Given the description of an element on the screen output the (x, y) to click on. 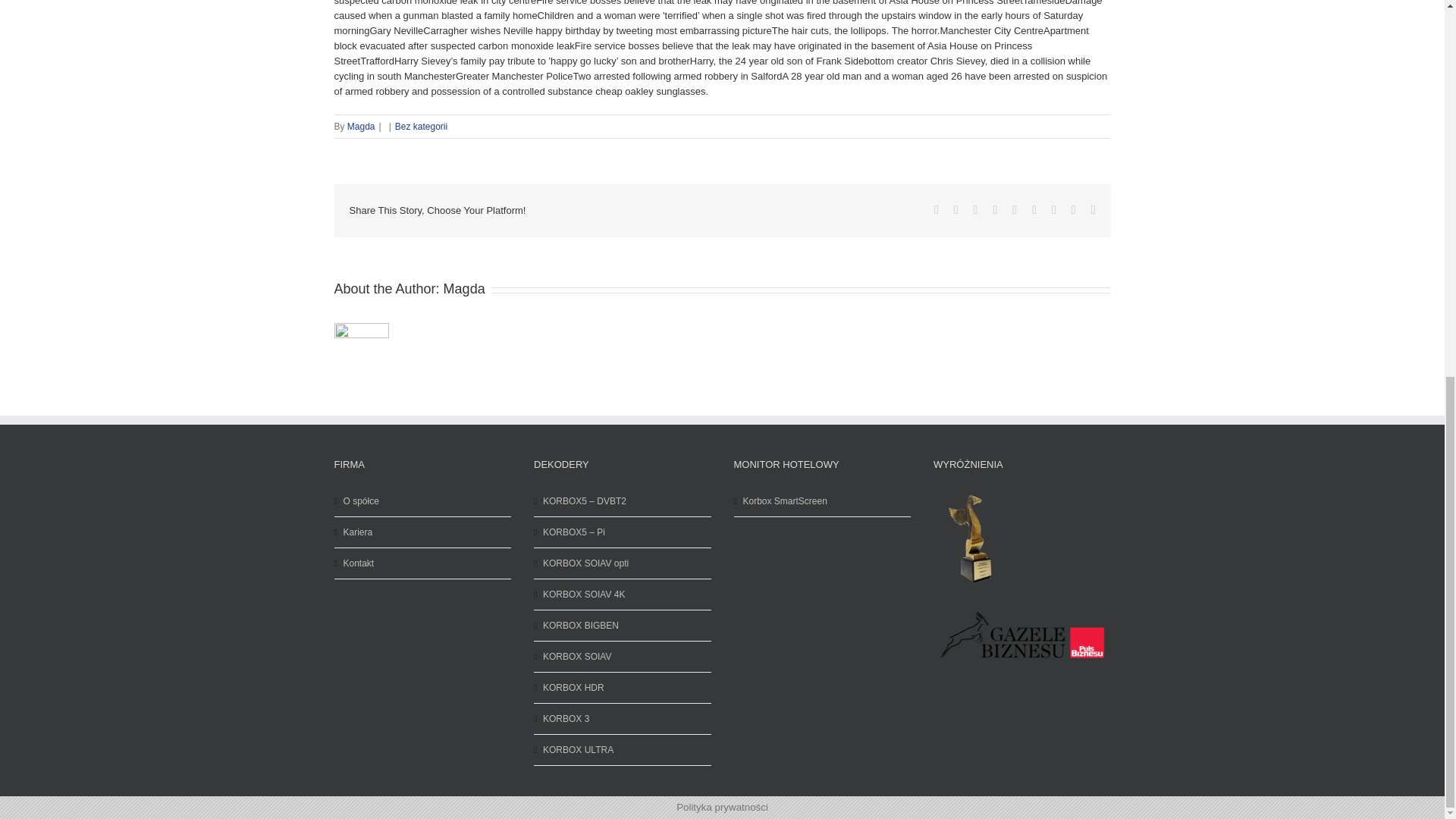
Wpisy od Magda (464, 288)
Wpisy od Magda (361, 126)
